Given the description of an element on the screen output the (x, y) to click on. 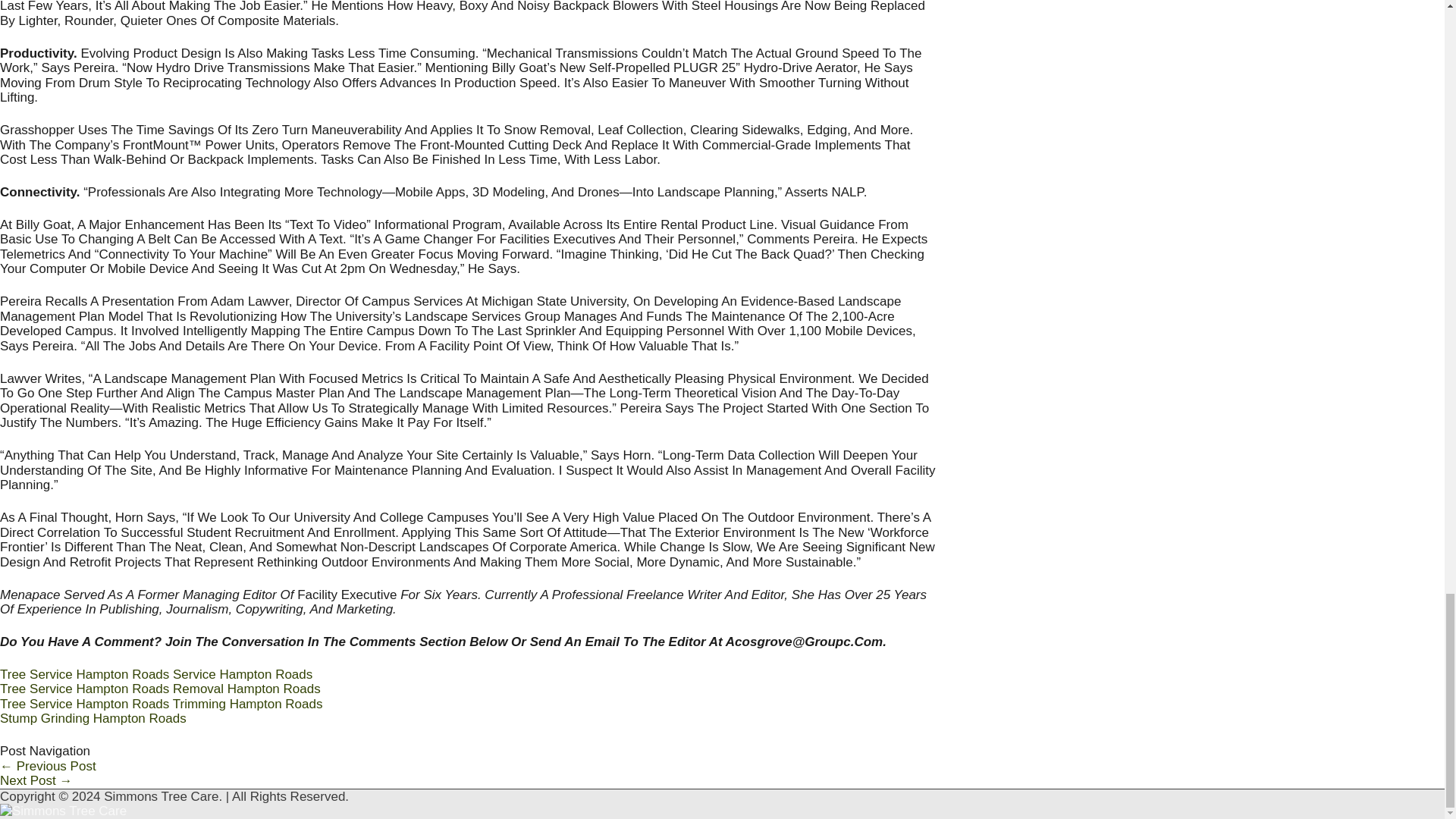
Tree Service Hampton Roads Trimming Hampton Roads (160, 703)
Tree Service Hampton Roads Removal Hampton Roads (160, 688)
Tree Service Hampton Roads Service Hampton Roads (156, 674)
Stump Grinding Hampton Roads (93, 718)
Finding Fur-Ever Homes At GIE-EXPO 2018 MUTT MADNESS Event (35, 780)
